Given the description of an element on the screen output the (x, y) to click on. 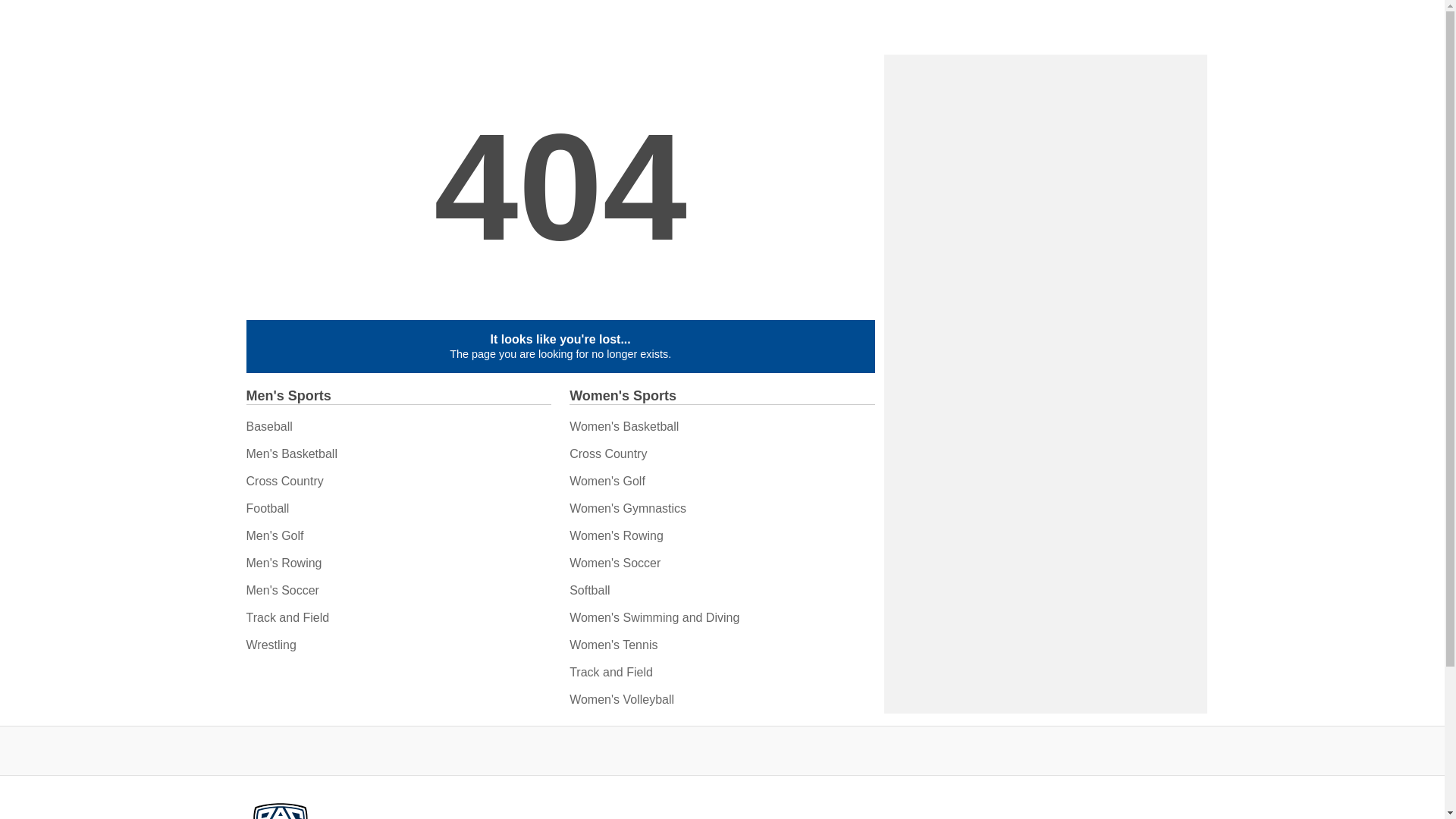
Men's Rowing (283, 562)
Cross Country (284, 481)
Men's Basketball (291, 453)
Men's Soccer (282, 590)
Baseball (269, 426)
Football (267, 508)
Men's Golf (274, 535)
Track and Field (287, 617)
